Given the description of an element on the screen output the (x, y) to click on. 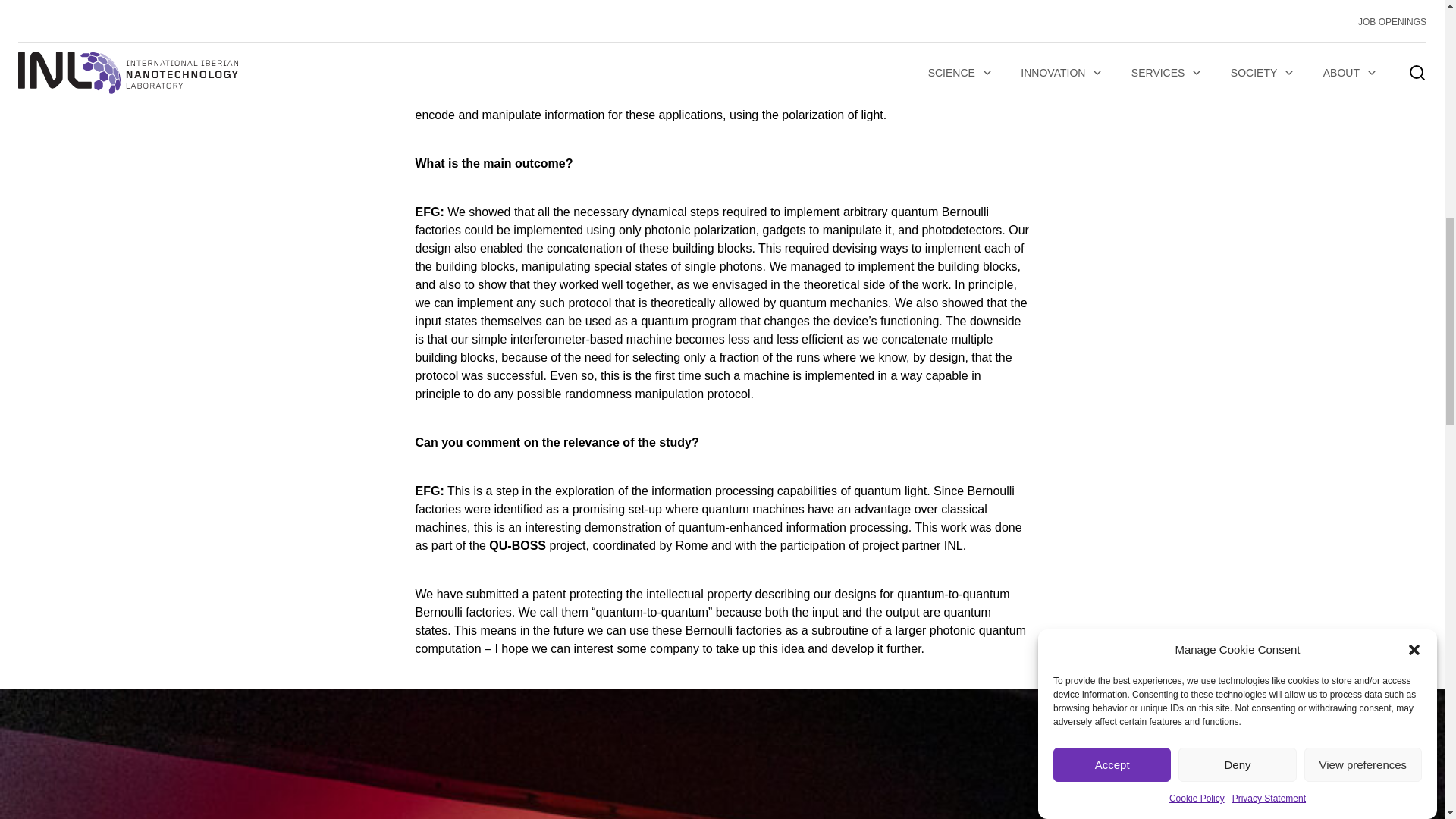
Accept (1111, 131)
Deny (1236, 96)
View preferences (1363, 75)
Cookie Policy (1196, 31)
Privacy Statement (1268, 13)
